Given the description of an element on the screen output the (x, y) to click on. 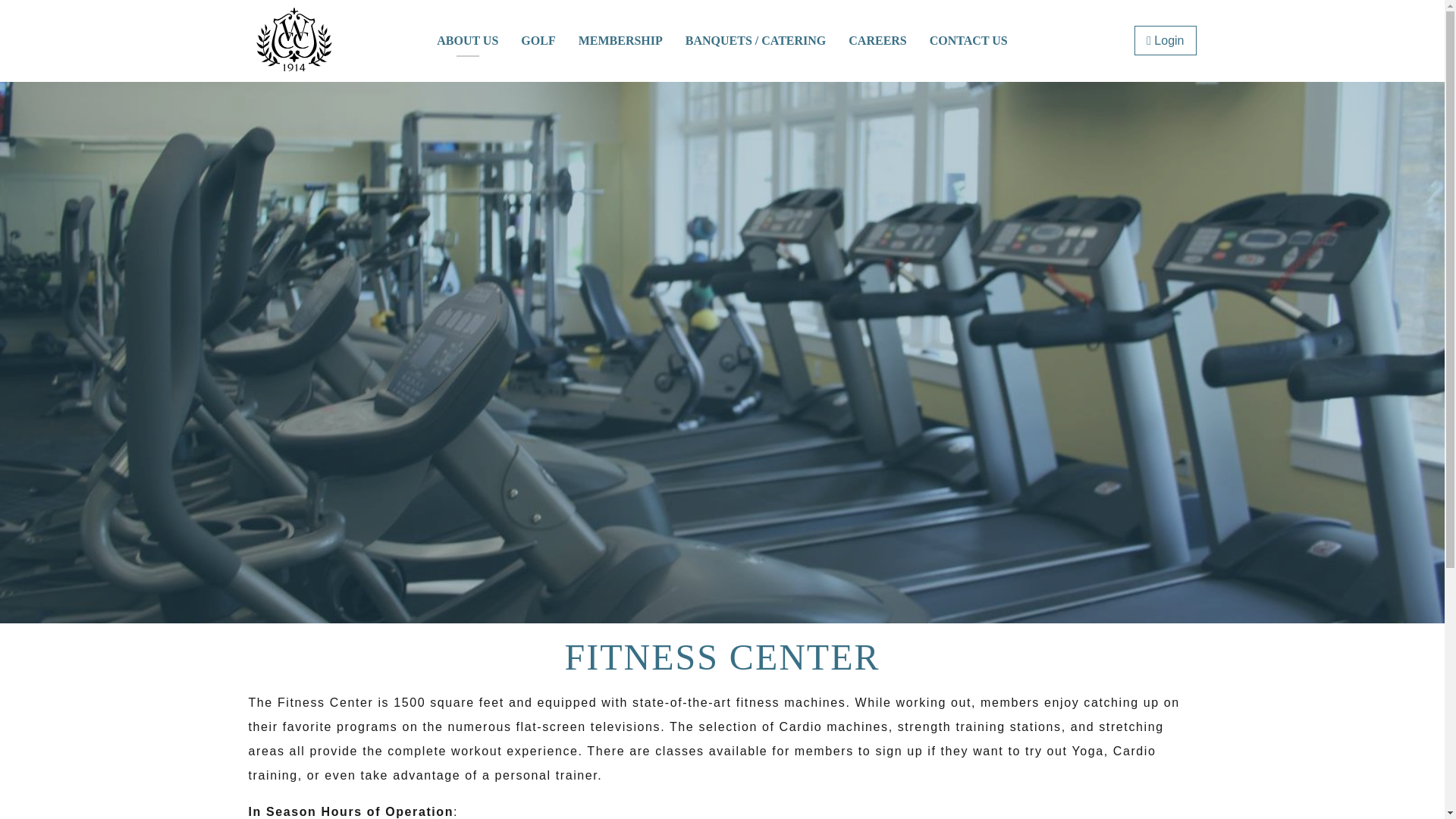
MEMBERSHIP (620, 40)
GOLF (537, 40)
Home (293, 74)
ABOUT US (467, 40)
Contact Us (968, 40)
Golf (537, 40)
CAREERS (877, 40)
Login (1164, 40)
Careers (877, 40)
CONTACT US (968, 40)
About Us (467, 40)
Membership (620, 40)
